Given the description of an element on the screen output the (x, y) to click on. 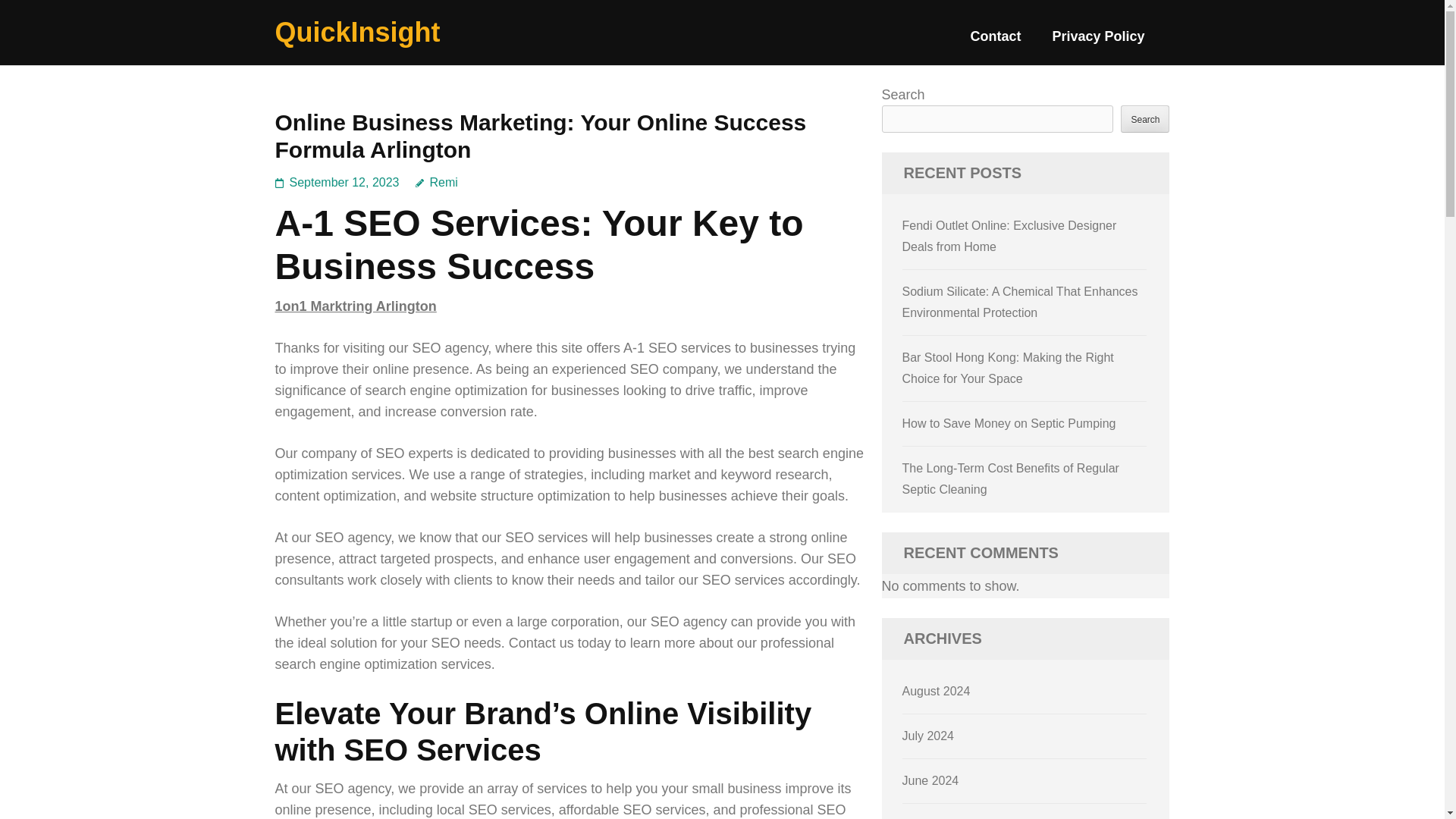
June 2024 (930, 780)
September 12, 2023 (343, 182)
July 2024 (928, 735)
QuickInsight (357, 31)
Fendi Outlet Online: Exclusive Designer Deals from Home (1009, 236)
Remi (436, 182)
1on1 Marktring Arlington (355, 305)
How to Save Money on Septic Pumping (1009, 422)
August 2024 (936, 690)
